Given the description of an element on the screen output the (x, y) to click on. 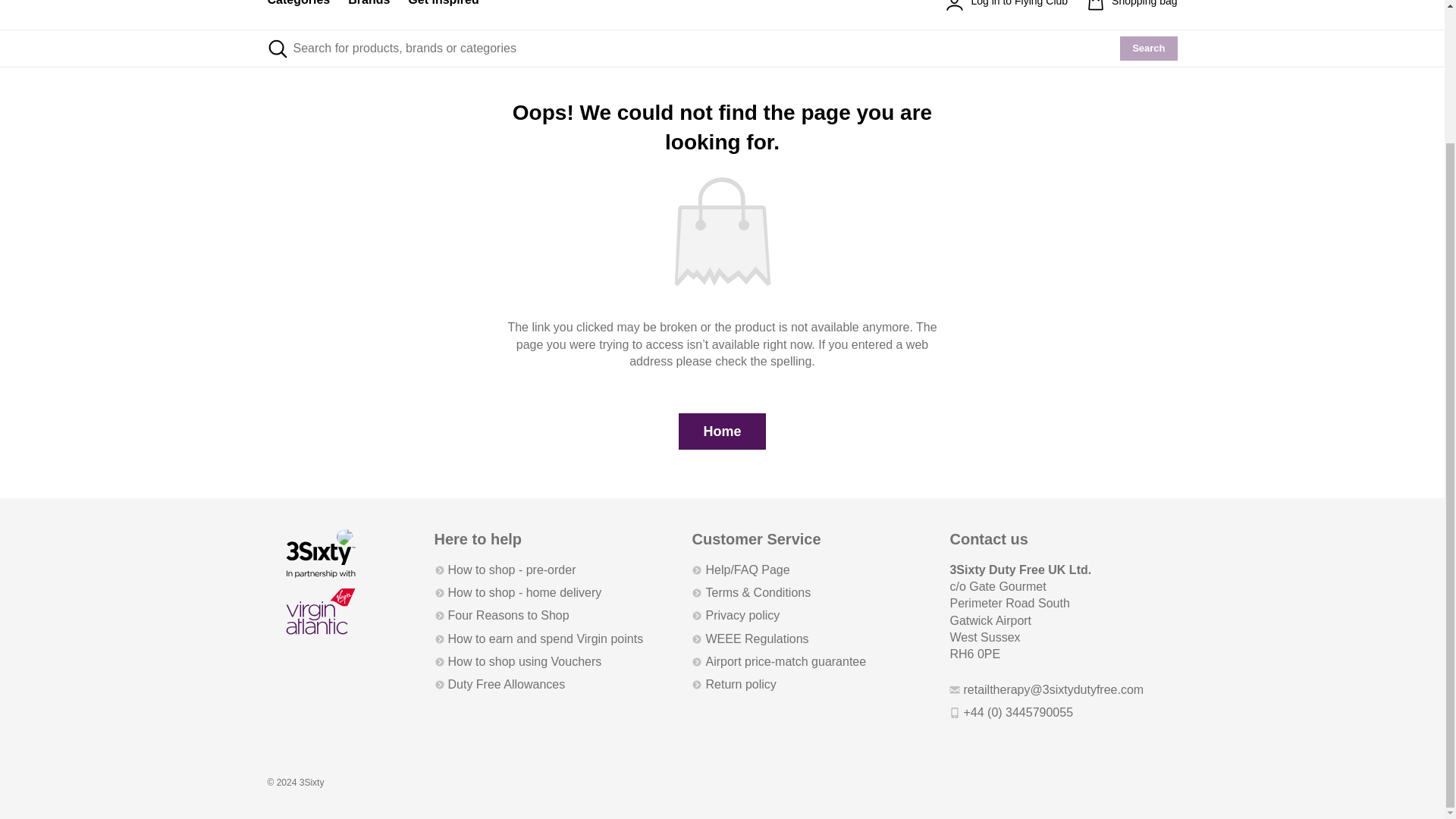
Privacy policy (734, 615)
cms (443, 14)
Duty Free Allowances (498, 684)
How to shop - pre-order (504, 569)
Brands (368, 14)
How to earn and spend Virgin points (538, 638)
Search (1147, 48)
WEEE Regulations (749, 638)
Get inspired (443, 14)
How to earn and spend Virgin points (538, 638)
